Given the description of an element on the screen output the (x, y) to click on. 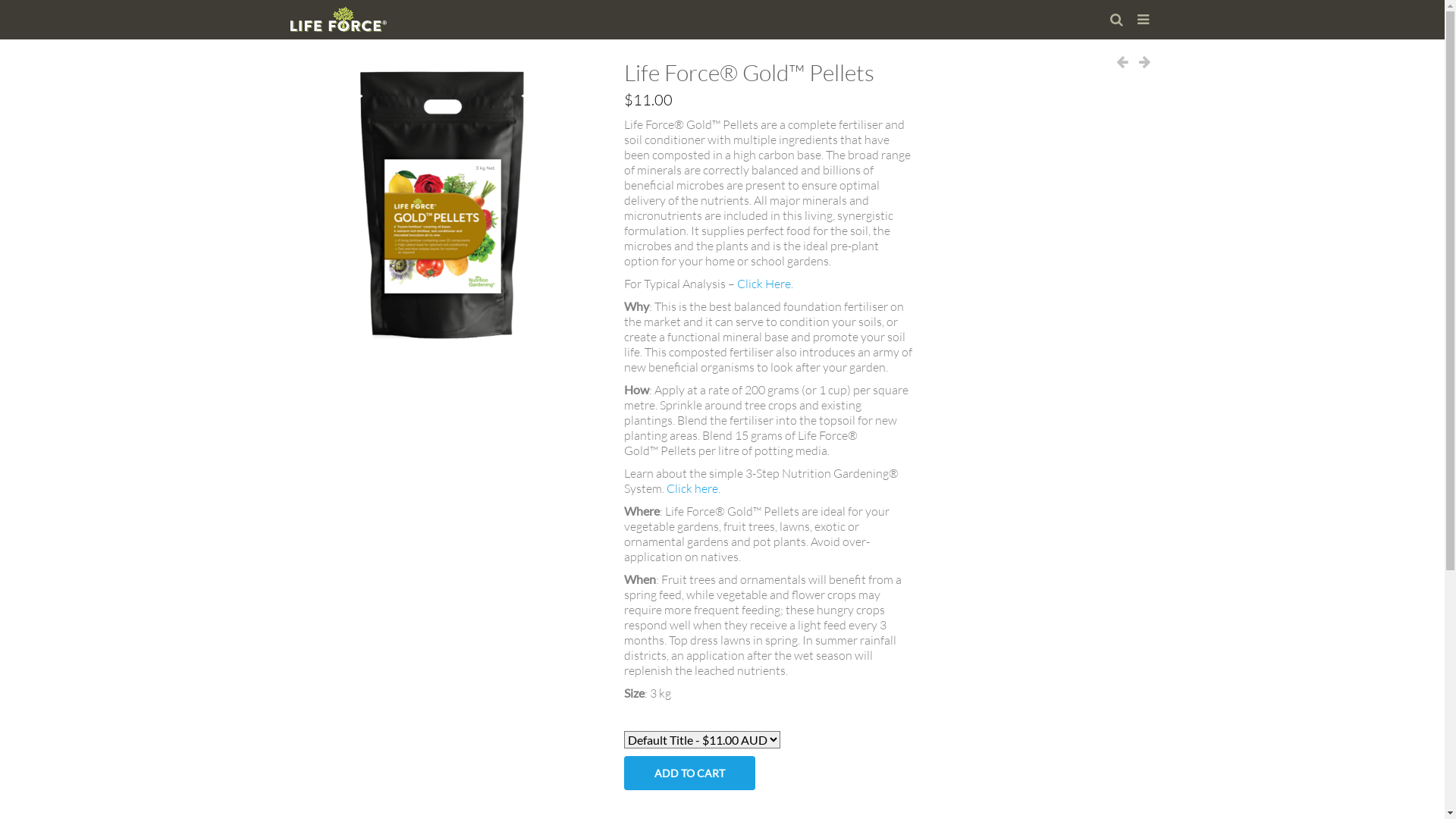
Click here. Element type: text (692, 487)
Add to Cart Element type: text (688, 773)
Click Here. Element type: text (765, 283)
